Given the description of an element on the screen output the (x, y) to click on. 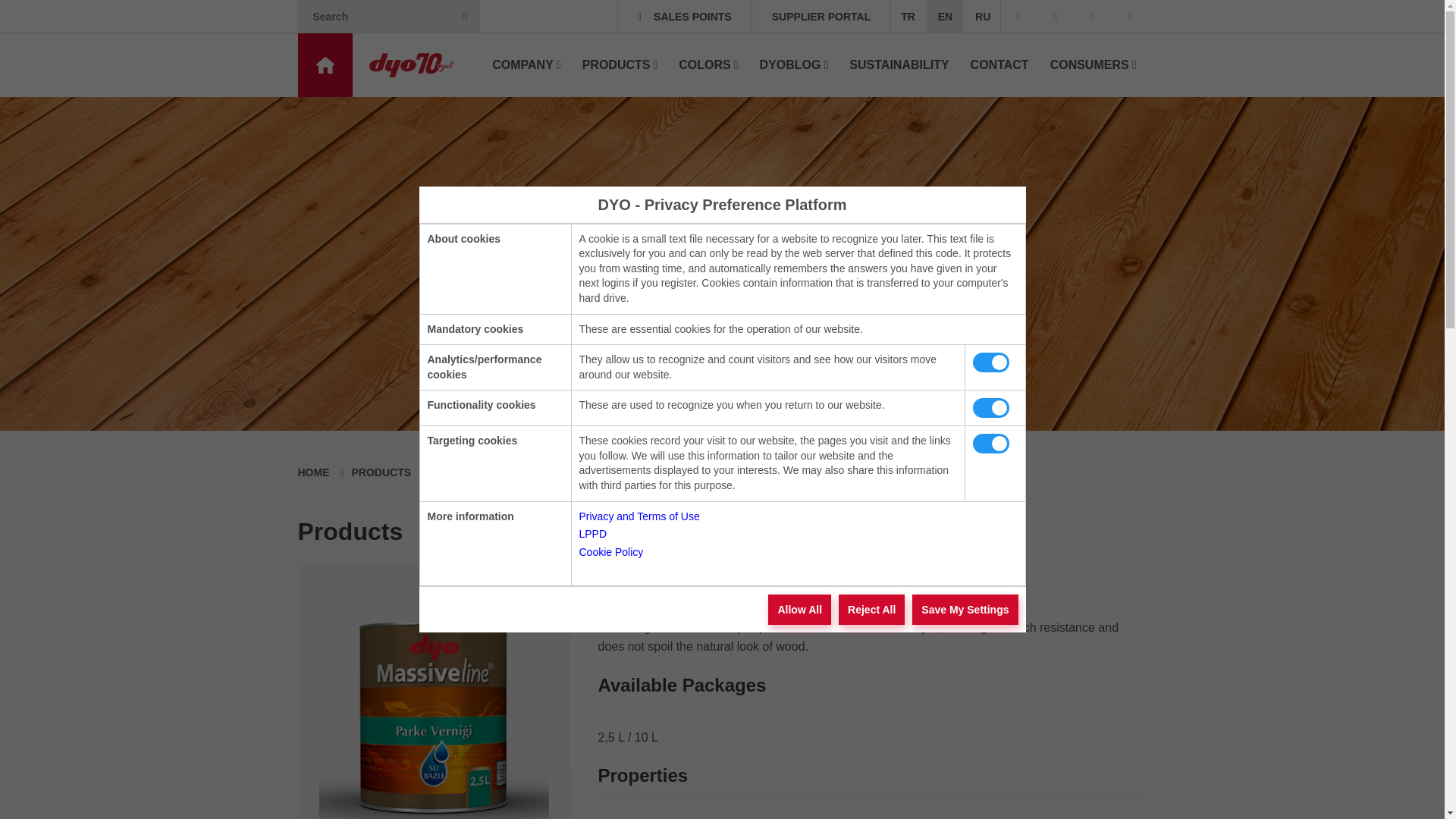
PRODUCTS (620, 65)
COMPANY (525, 65)
TR (907, 16)
SALES POINTS (684, 16)
RU (982, 16)
COLORS (708, 65)
DYOBLOG (794, 65)
SUPPLIER PORTAL (820, 16)
EN (944, 16)
